Given the description of an element on the screen output the (x, y) to click on. 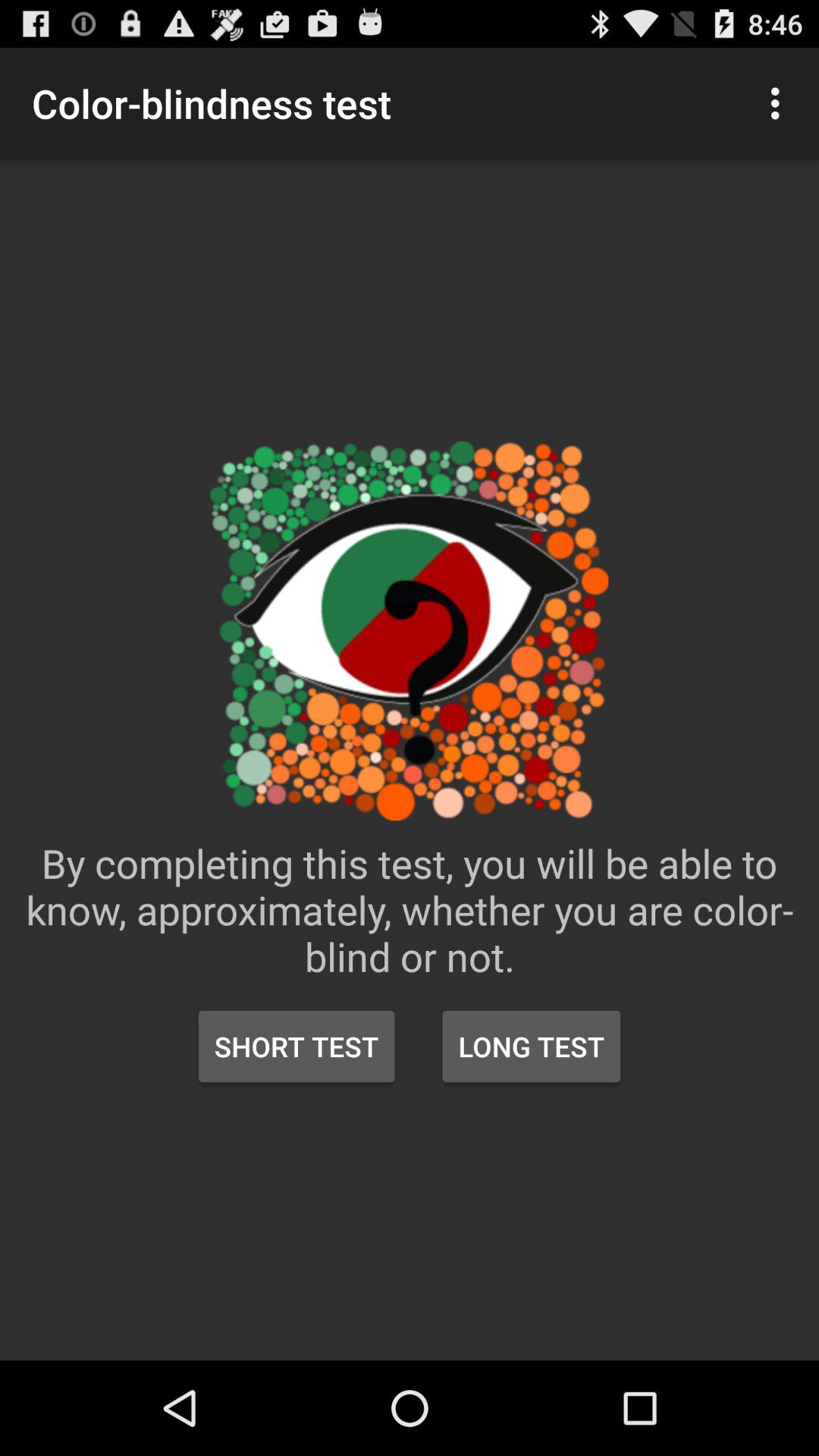
choose the app to the right of color-blindness test (779, 103)
